Given the description of an element on the screen output the (x, y) to click on. 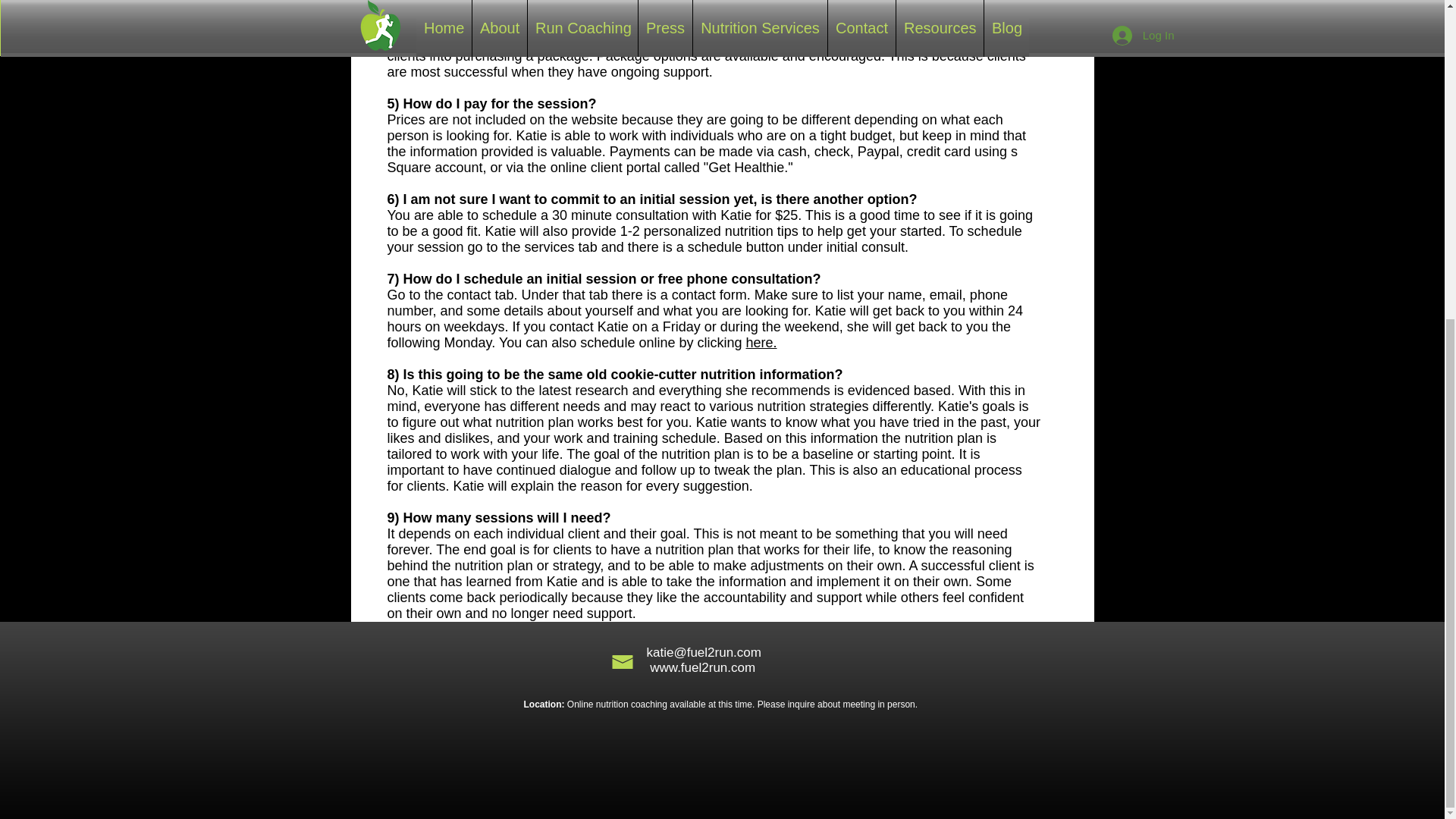
here. (760, 342)
www.fuel2run.com (702, 667)
